Given the description of an element on the screen output the (x, y) to click on. 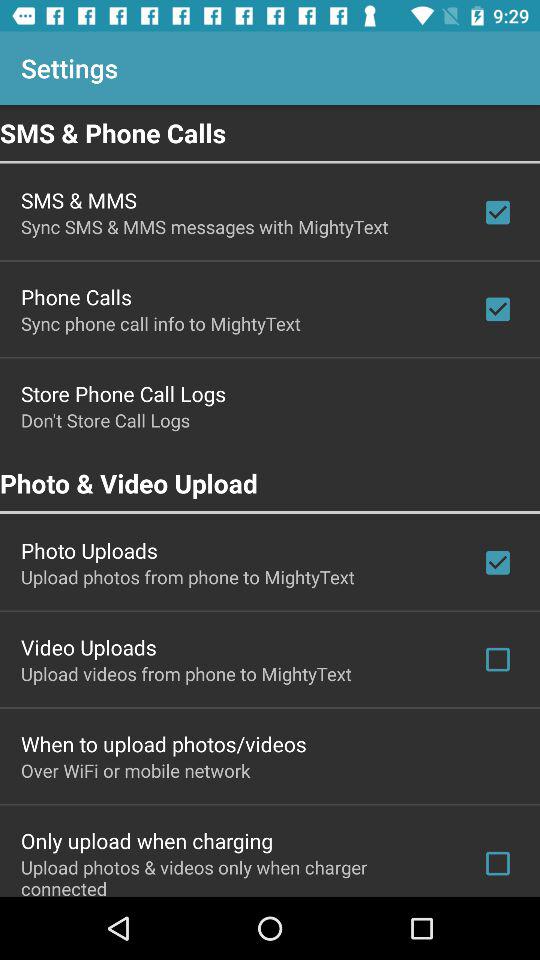
turn off photo & video upload item (270, 483)
